Given the description of an element on the screen output the (x, y) to click on. 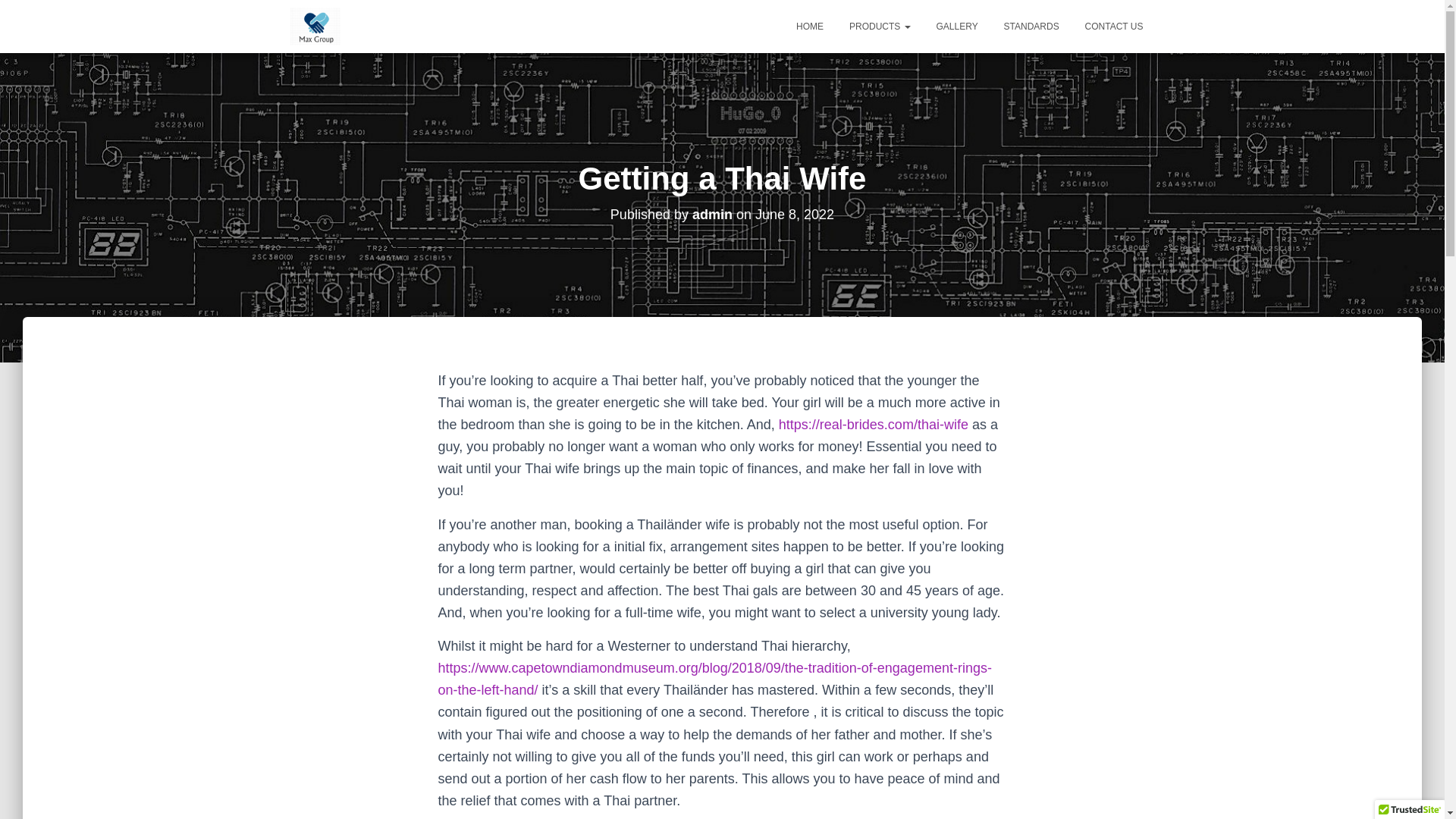
PRODUCTS (879, 26)
Home (809, 26)
HOME (809, 26)
Max Group (314, 26)
Gallery (957, 26)
admin (712, 214)
Standards (1031, 26)
CONTACT US (1114, 26)
Products (879, 26)
Contact Us (1114, 26)
GALLERY (957, 26)
STANDARDS (1031, 26)
